Given the description of an element on the screen output the (x, y) to click on. 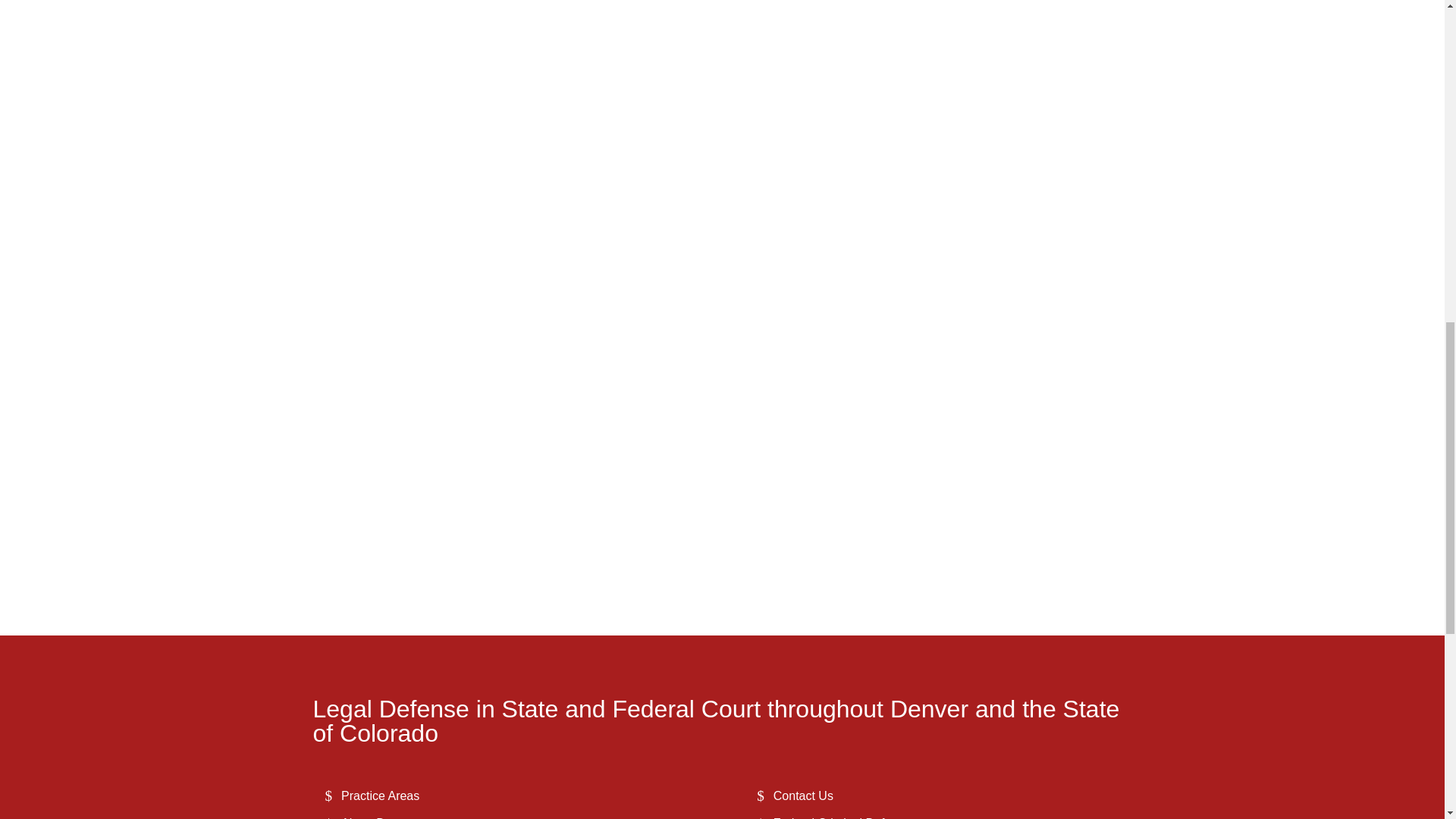
Contact Us (802, 795)
Practice Areas (379, 795)
About Doug (373, 817)
Federal Criminal Defense (842, 817)
